Given the description of an element on the screen output the (x, y) to click on. 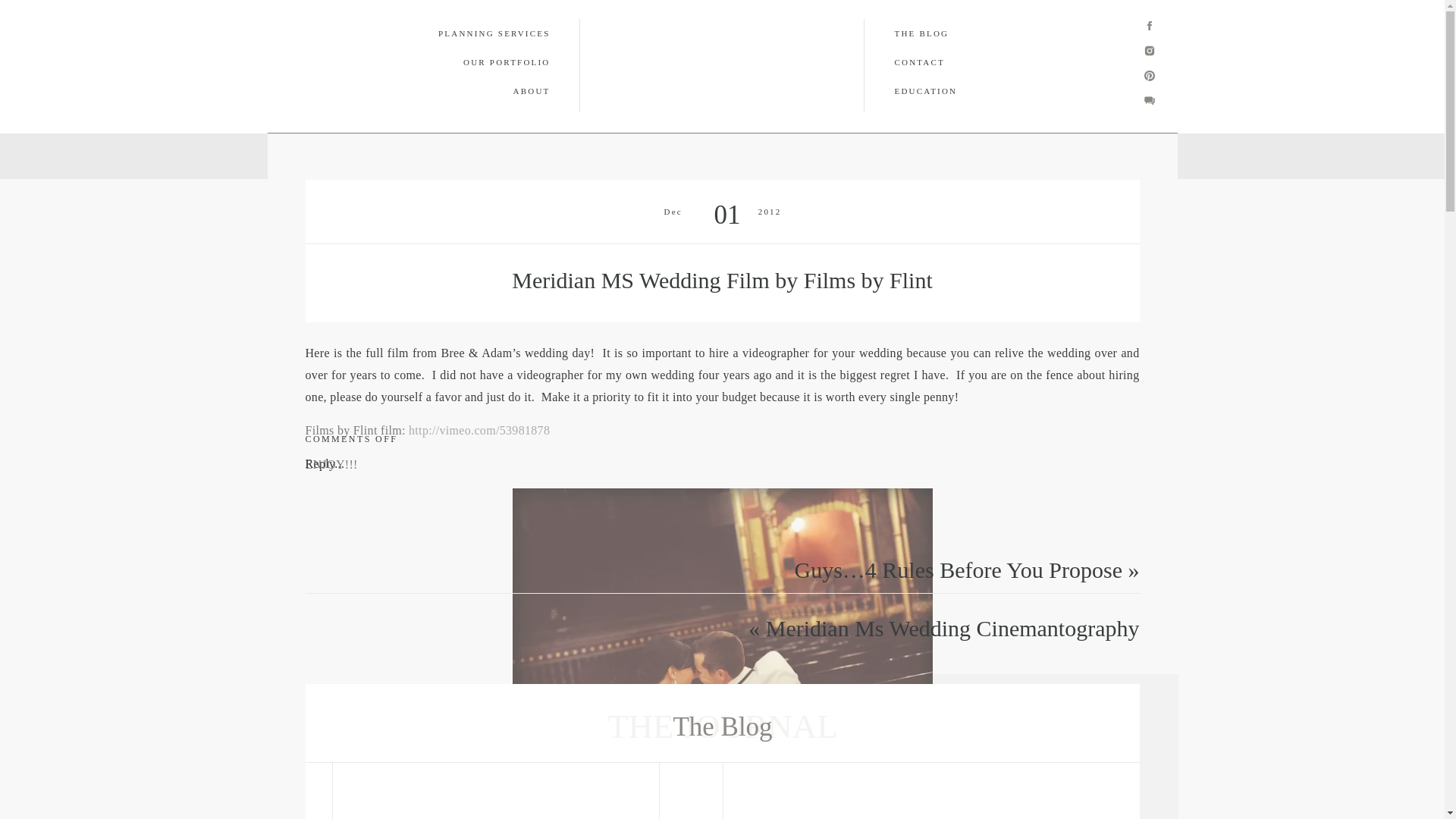
PLANNING SERVICES (480, 33)
THE BLOG (662, 155)
THE BLOG (954, 33)
msu-riley-center-wedding (722, 627)
OUR PORTFOLIO (481, 61)
EDUCATION (829, 155)
EDUCATION (980, 90)
PLANNING SERVICES (369, 155)
ABOUT (481, 90)
CONTACT (744, 155)
OUR PORTFOLIO (497, 155)
Meridian Ms Wedding Cinemantography (952, 627)
ABOUT (589, 155)
CONTACT (963, 61)
